Given the description of an element on the screen output the (x, y) to click on. 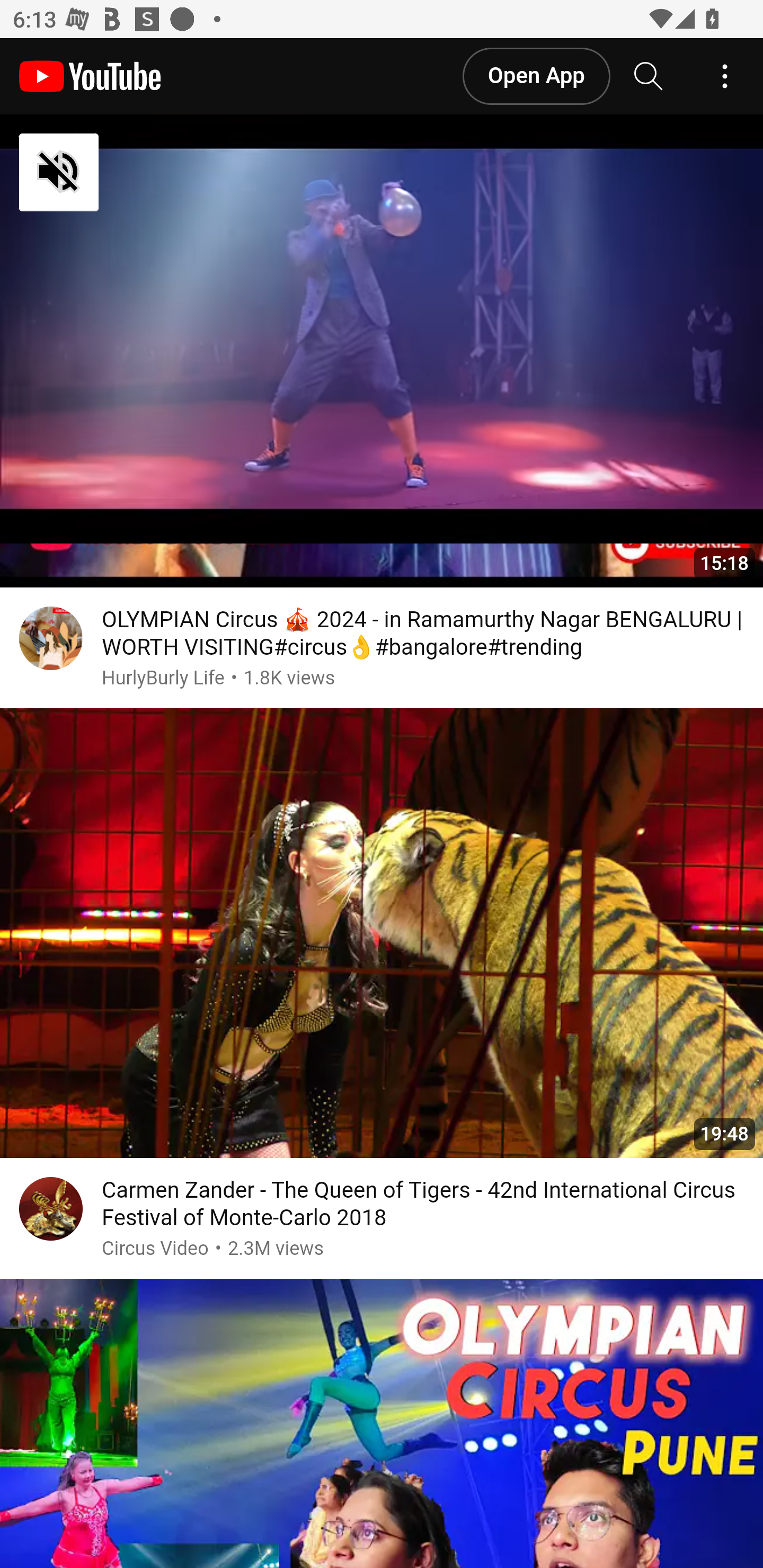
YouTube (89, 77)
Go to channel (50, 70)
Search YouTube (648, 77)
Account (724, 77)
Open App (535, 77)
TAP TO UNMUTE (152, 174)
Go to channel (50, 641)
Go to channel (50, 1212)
